Given the description of an element on the screen output the (x, y) to click on. 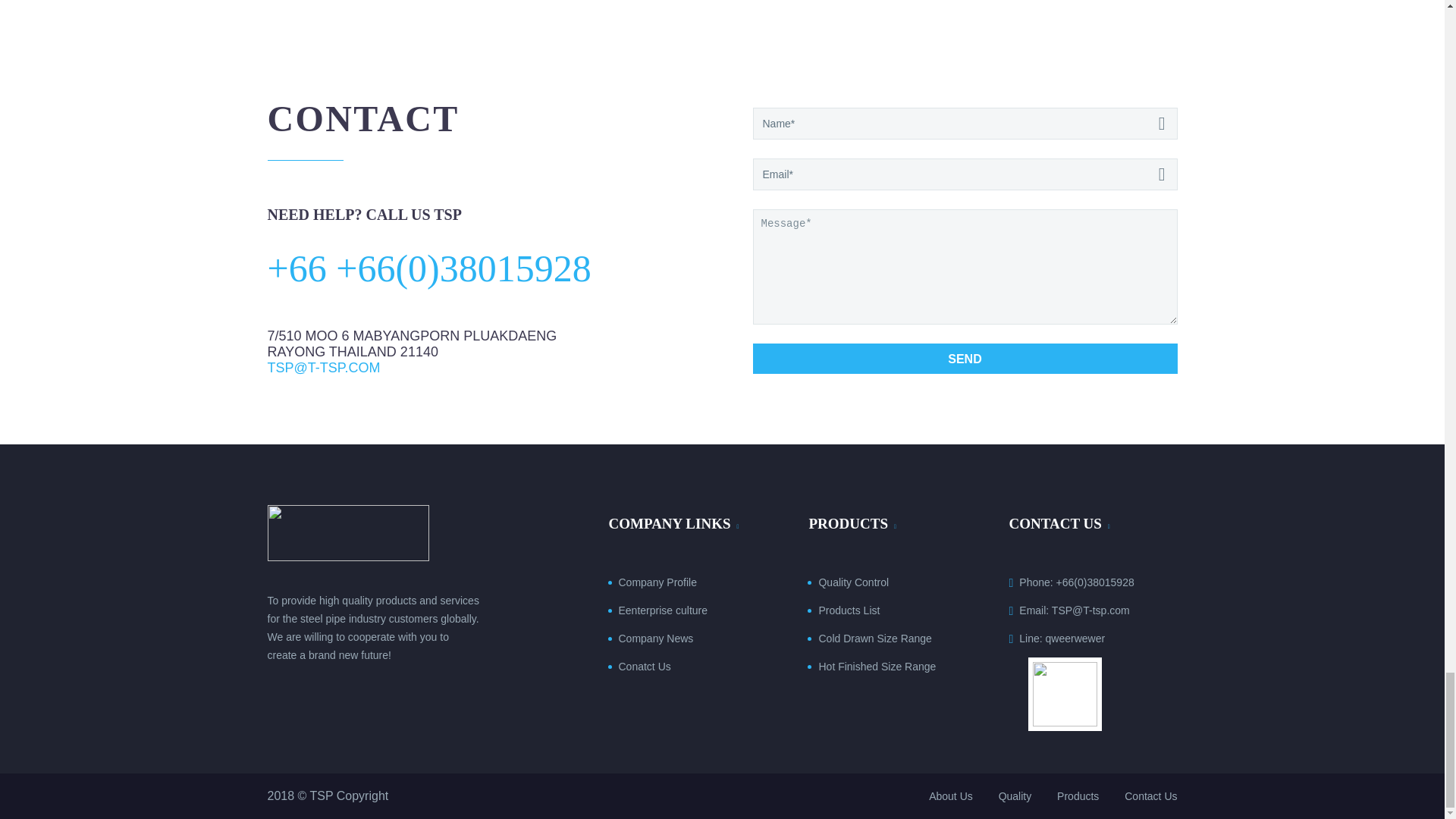
Company Profile (657, 582)
Hot Finished Size Range (877, 666)
Products List (848, 610)
Conatct Us (644, 666)
Eenterprise culture (662, 610)
SEND (964, 358)
Quality Control (853, 582)
Company News (656, 638)
Cold Drawn Size Range (874, 638)
